Given the description of an element on the screen output the (x, y) to click on. 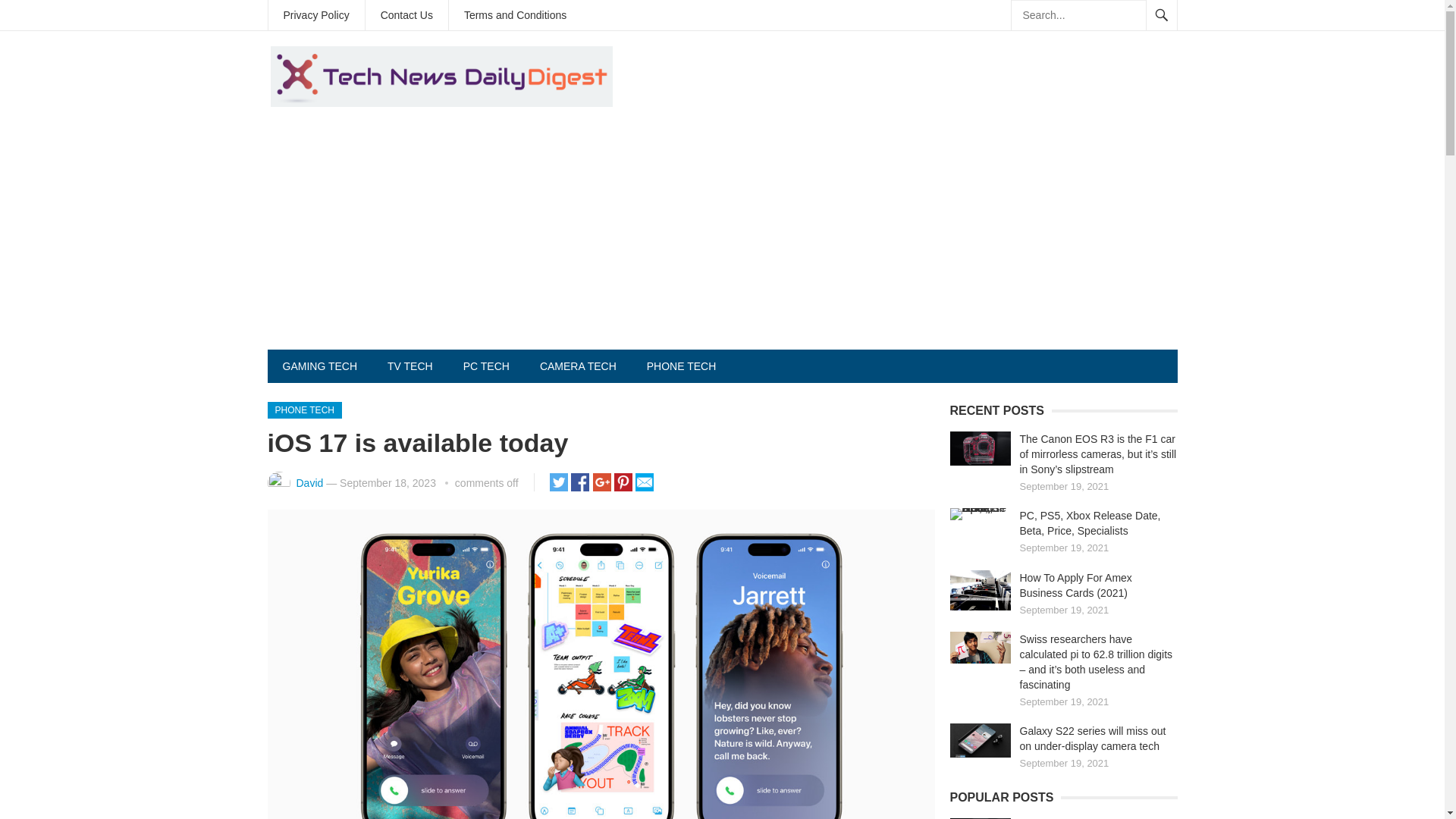
Privacy Policy (316, 15)
TV TECH (410, 366)
PC, PS5, Xbox Release Date, Beta, Price, Specialists (1089, 523)
Contact Us (406, 15)
Posts by David (309, 482)
PC TECH (486, 366)
CAMERA TECH (577, 366)
Terms and Conditions (514, 15)
GAMING TECH (319, 366)
View all posts in Phone Tech (303, 410)
PHONE TECH (303, 410)
PHONE TECH (681, 366)
David (309, 482)
